Given the description of an element on the screen output the (x, y) to click on. 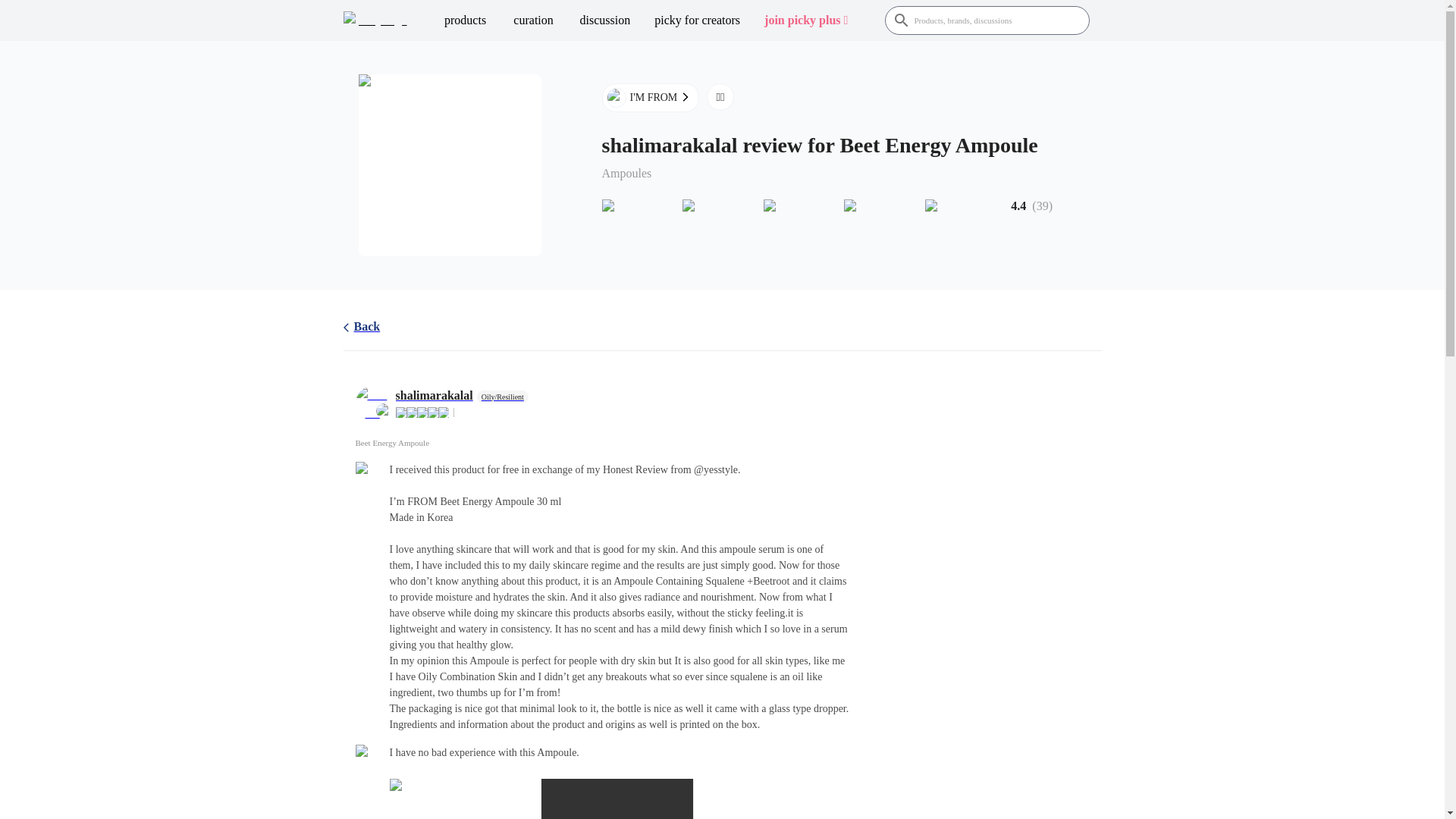
curation (533, 20)
Back (361, 329)
products (464, 20)
picky for creators (697, 20)
discussion (605, 20)
